Given the description of an element on the screen output the (x, y) to click on. 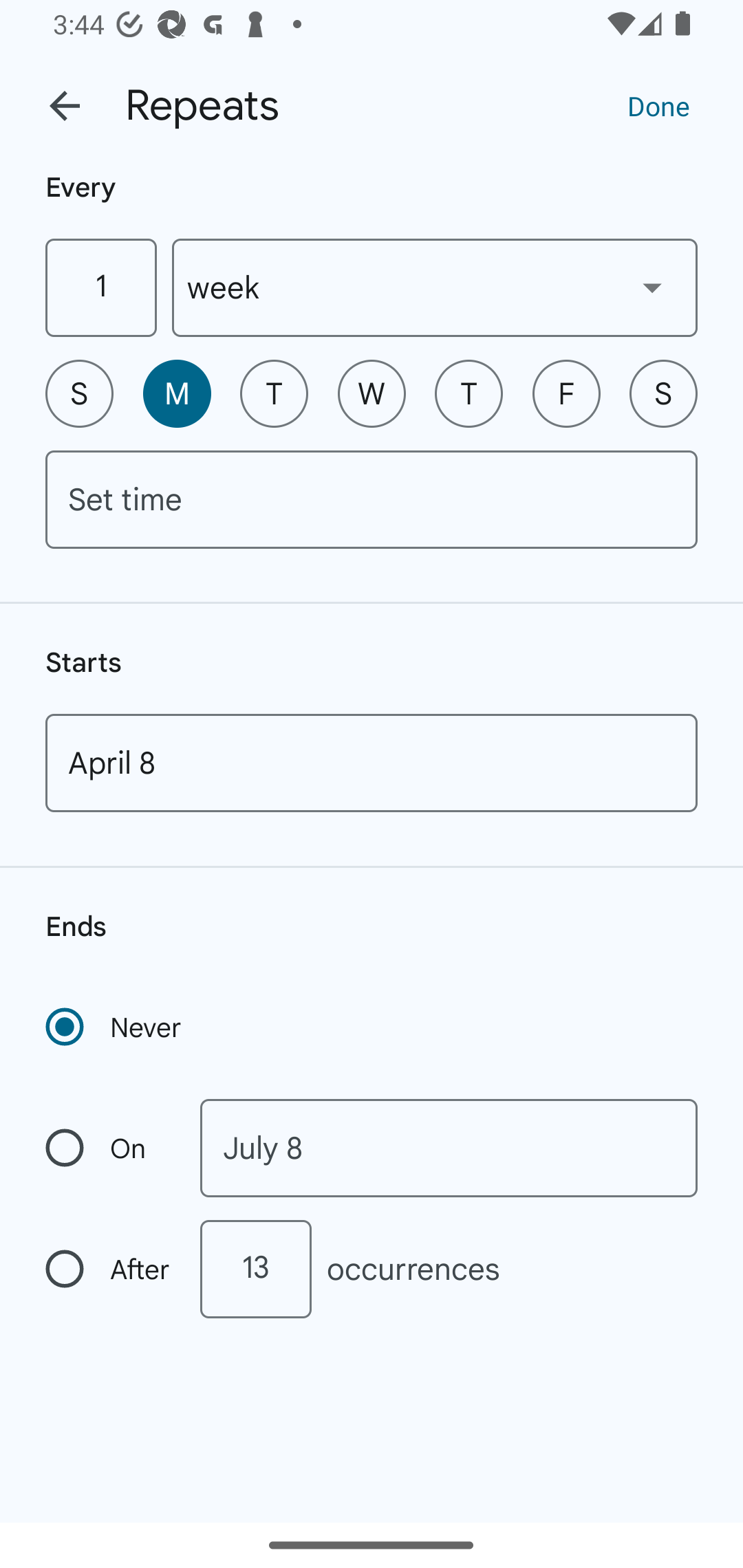
Back (64, 105)
Done (658, 105)
1 (100, 287)
week (434, 287)
Show dropdown menu (652, 286)
S Sunday (79, 393)
M Monday, selected (177, 393)
T Tuesday (273, 393)
W Wednesday (371, 393)
T Thursday (468, 393)
F Friday (566, 393)
S Saturday (663, 393)
Set time (371, 499)
April 8 (371, 762)
Never Recurrence never ends (115, 1026)
July 8 (448, 1148)
On Recurrence ends on a specific date (109, 1148)
13 (255, 1268)
